Given the description of an element on the screen output the (x, y) to click on. 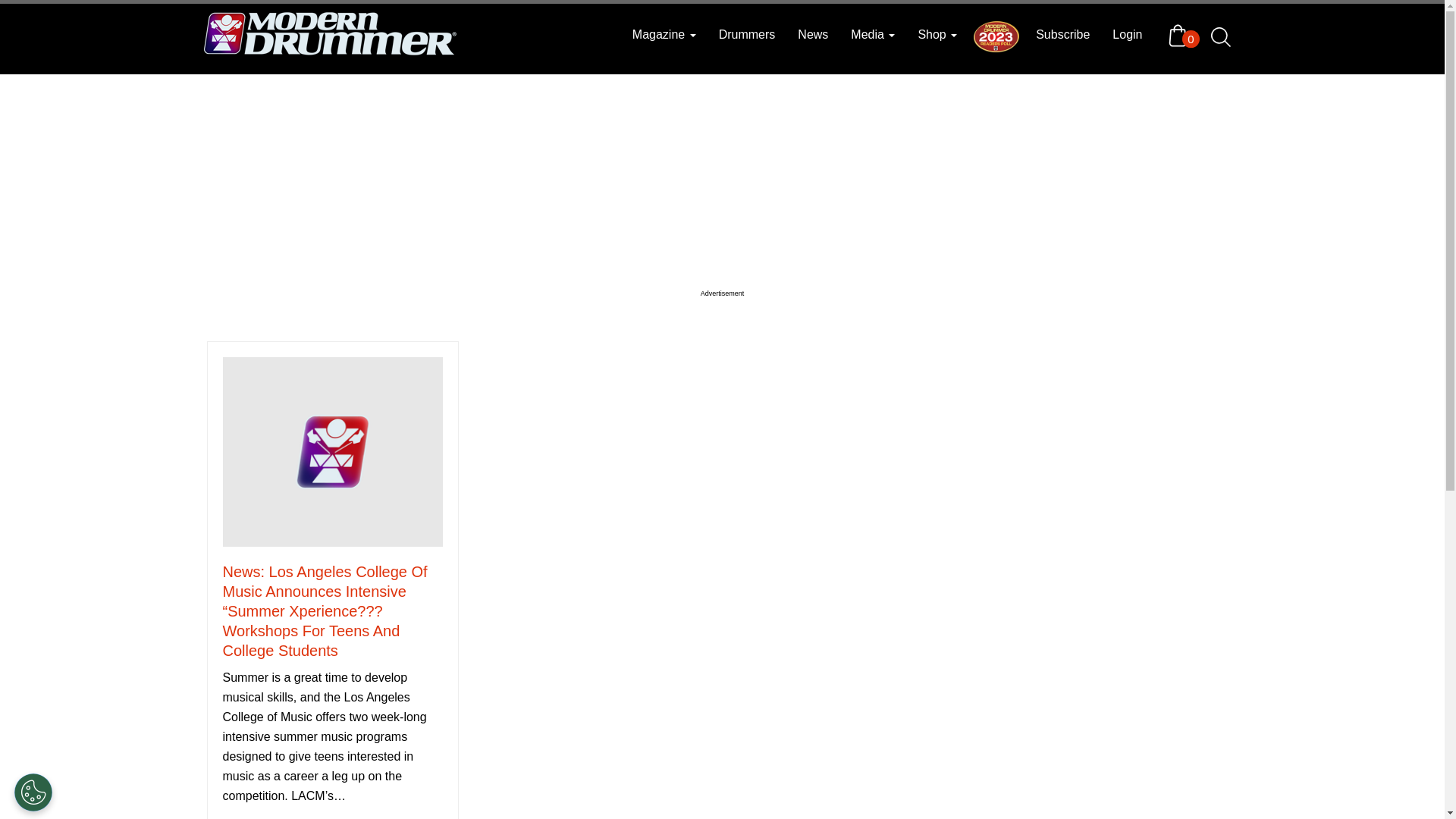
0 (1180, 35)
subscribe (1062, 34)
Drummers (747, 34)
Media (872, 34)
Magazine (664, 34)
View your Orders (1180, 35)
Subscribe (1062, 34)
Shop (936, 34)
